Given the description of an element on the screen output the (x, y) to click on. 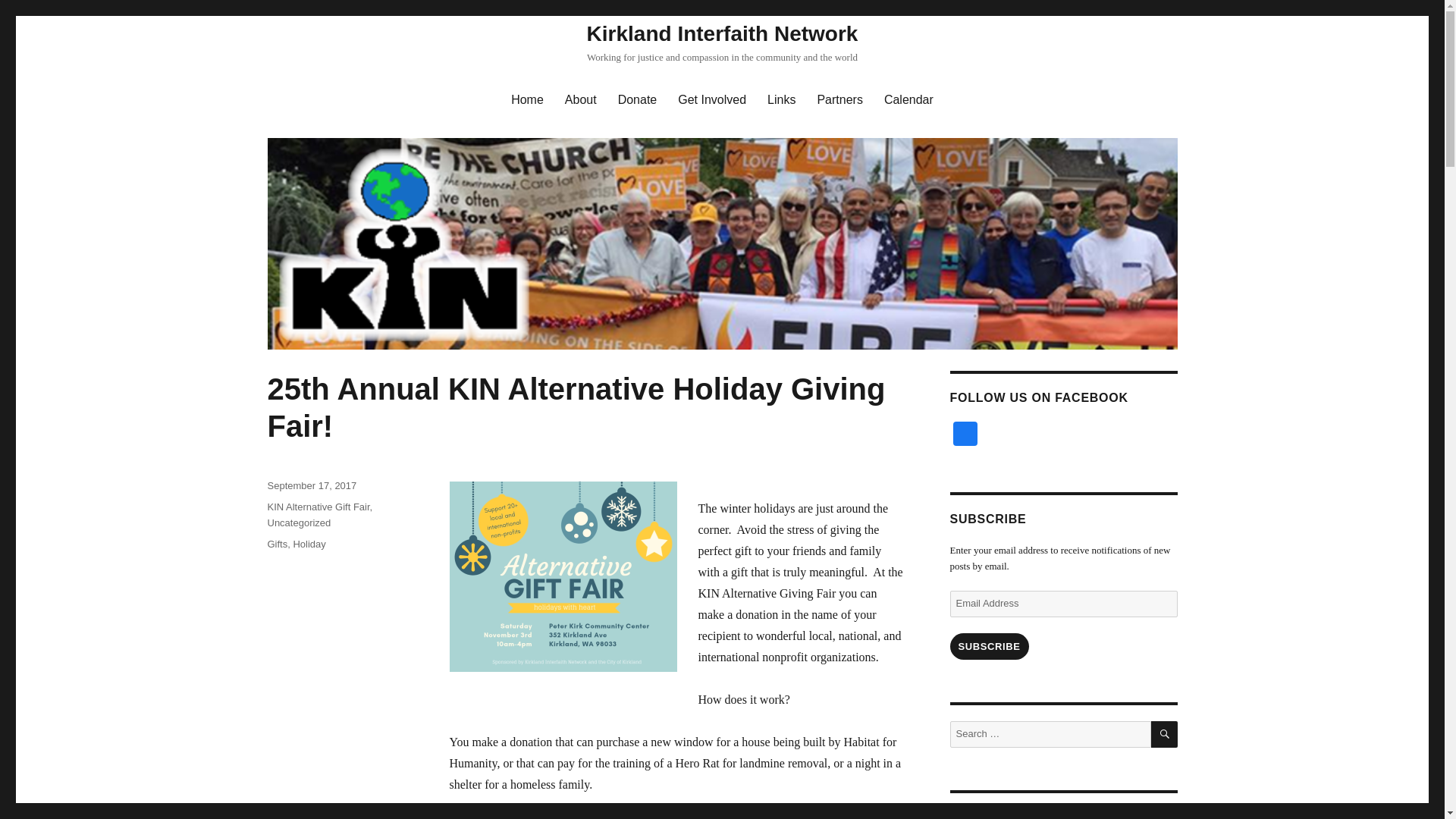
Gifts (276, 543)
September 17, 2017 (311, 485)
KIN Alternative Gift Fair (317, 506)
Uncategorized (298, 522)
Links (781, 100)
Kirkland Interfaith Network (722, 33)
25th Annual KIN Alternative Holiday Giving Fair! (575, 407)
Calendar (908, 100)
Home (527, 100)
Get Involved (711, 100)
